Given the description of an element on the screen output the (x, y) to click on. 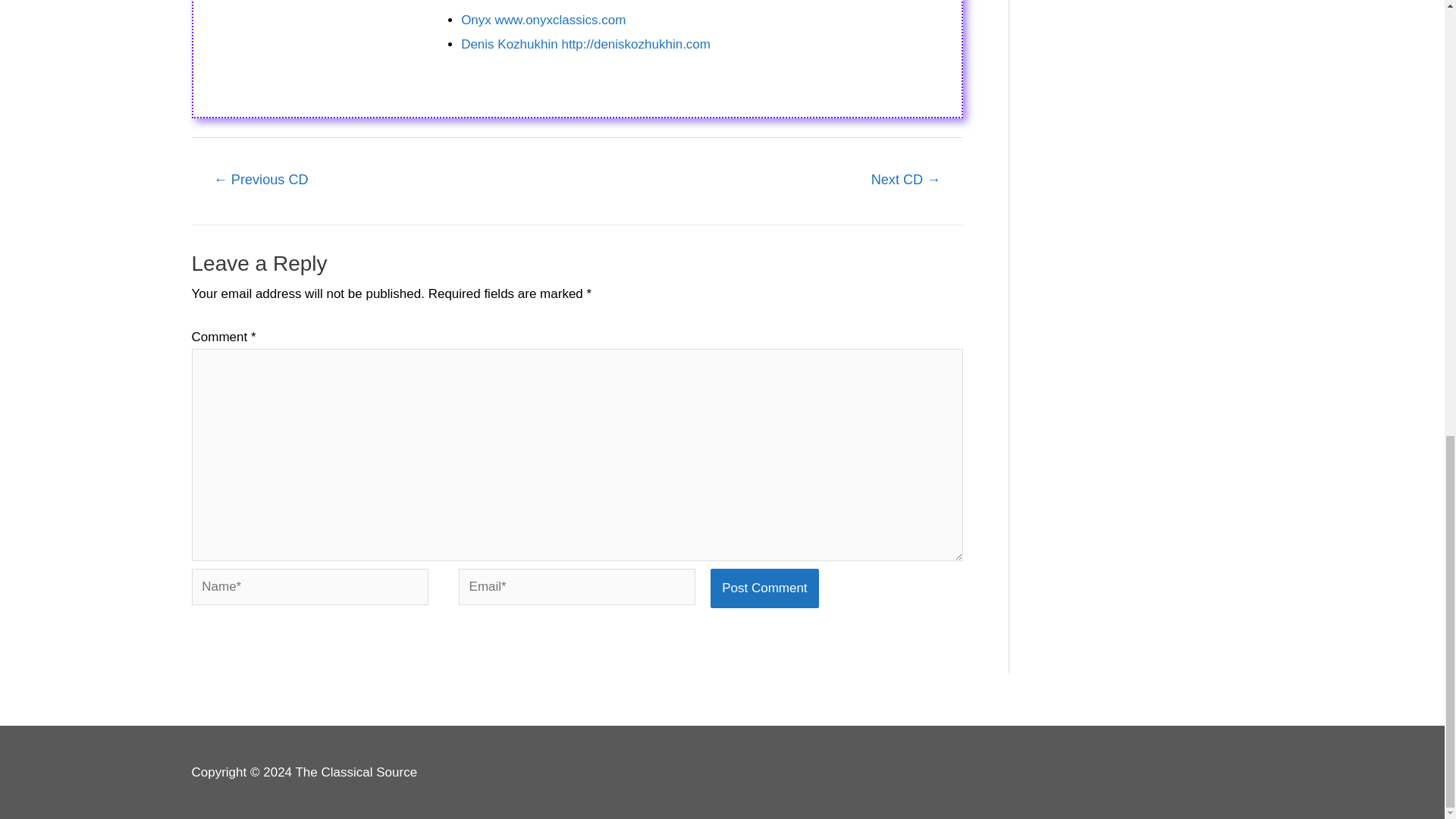
Post Comment (764, 588)
Onyx www.onyxclassics.com (543, 20)
Post Comment (764, 588)
